Given the description of an element on the screen output the (x, y) to click on. 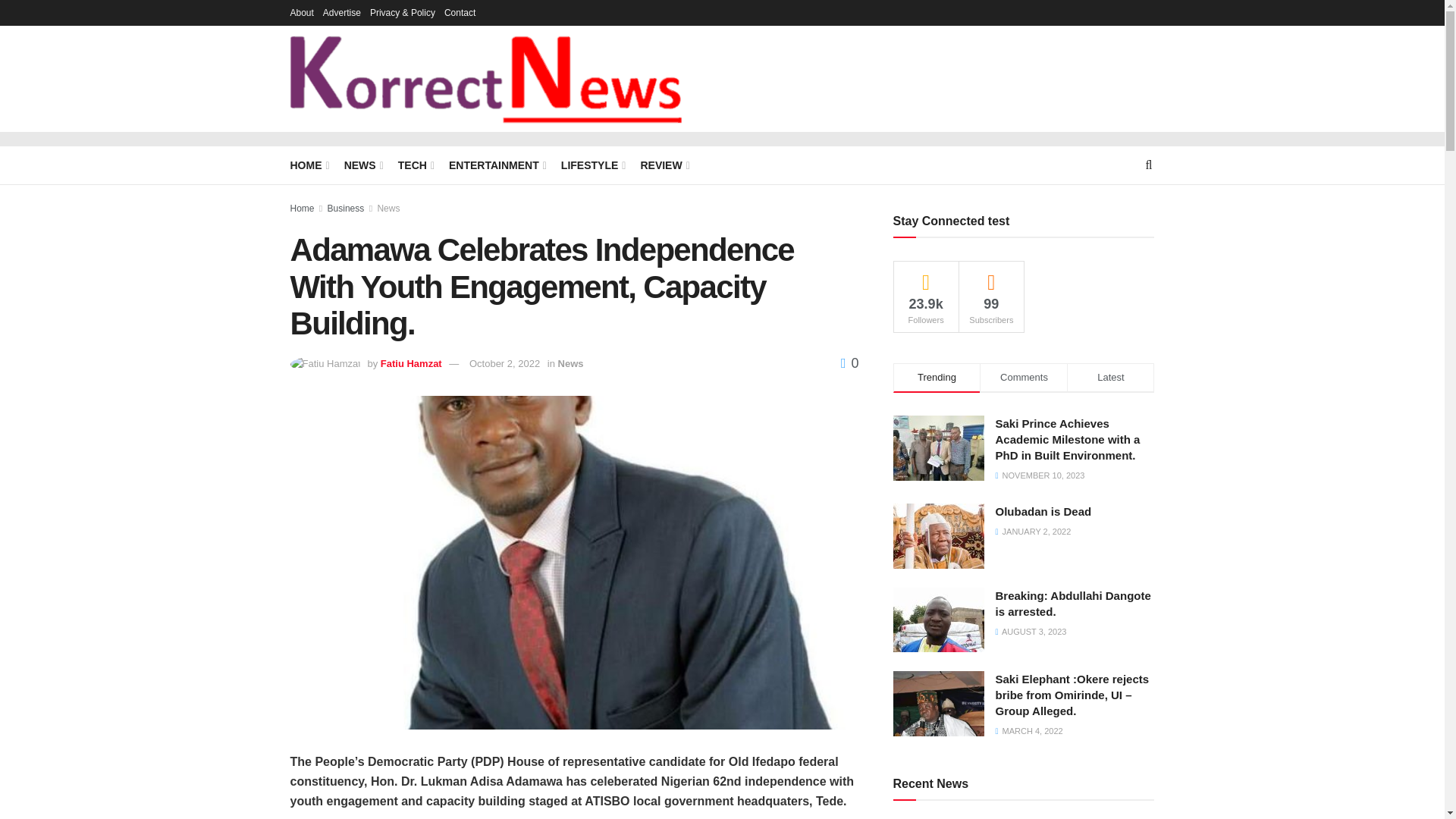
Contact (460, 12)
Advertise (342, 12)
HOME (307, 165)
NEWS (362, 165)
TECH (414, 165)
About (301, 12)
